Given the description of an element on the screen output the (x, y) to click on. 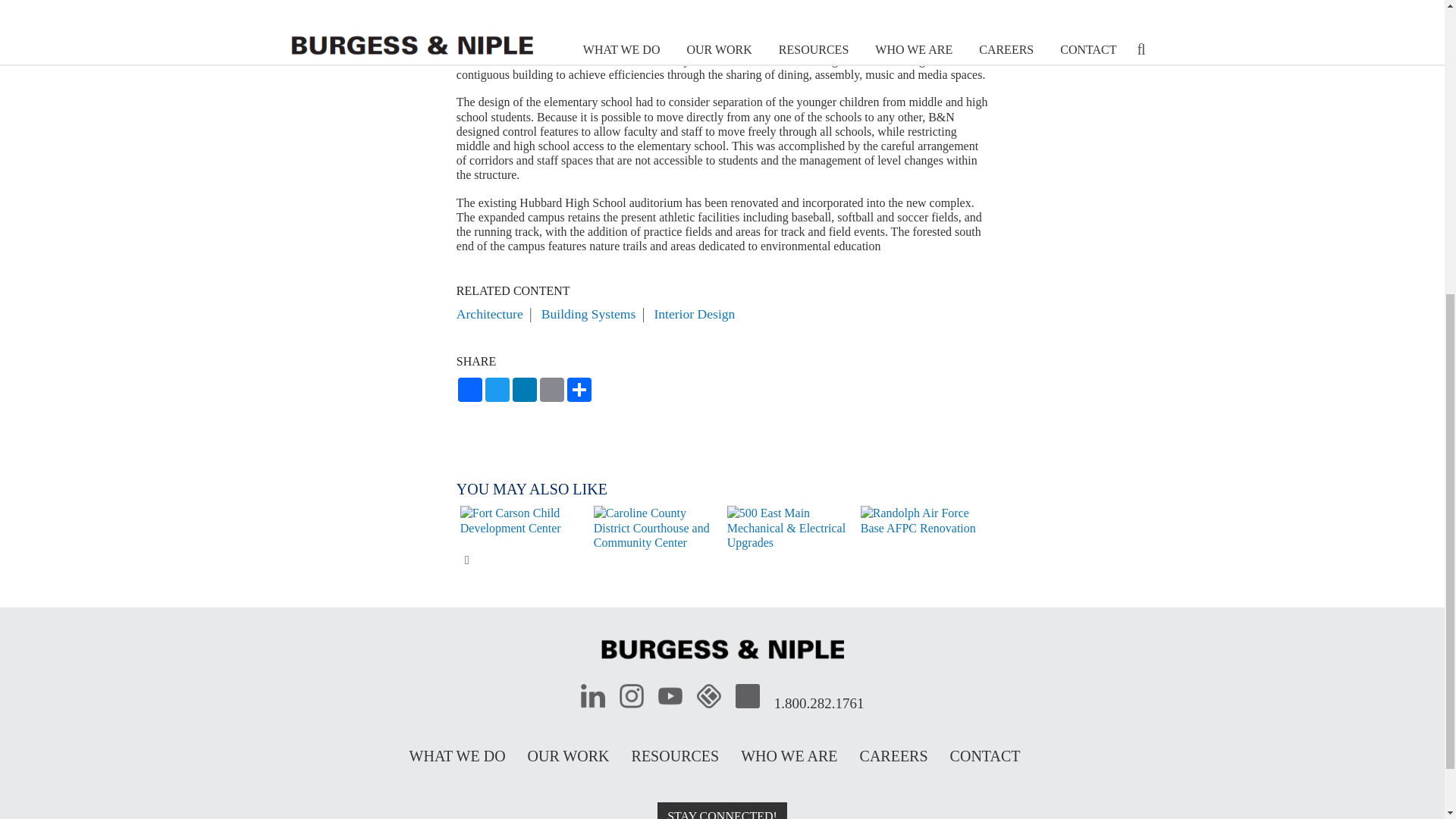
Facebook (470, 389)
Previous (445, 527)
Share (579, 389)
Interior Design (694, 313)
Email (552, 389)
Twitter (497, 389)
Architecture (489, 313)
Randolph Air Force Base AFPC Renovation (923, 520)
LinkedIn (524, 389)
Caroline County District Courthouse and Community Center (656, 527)
